Given the description of an element on the screen output the (x, y) to click on. 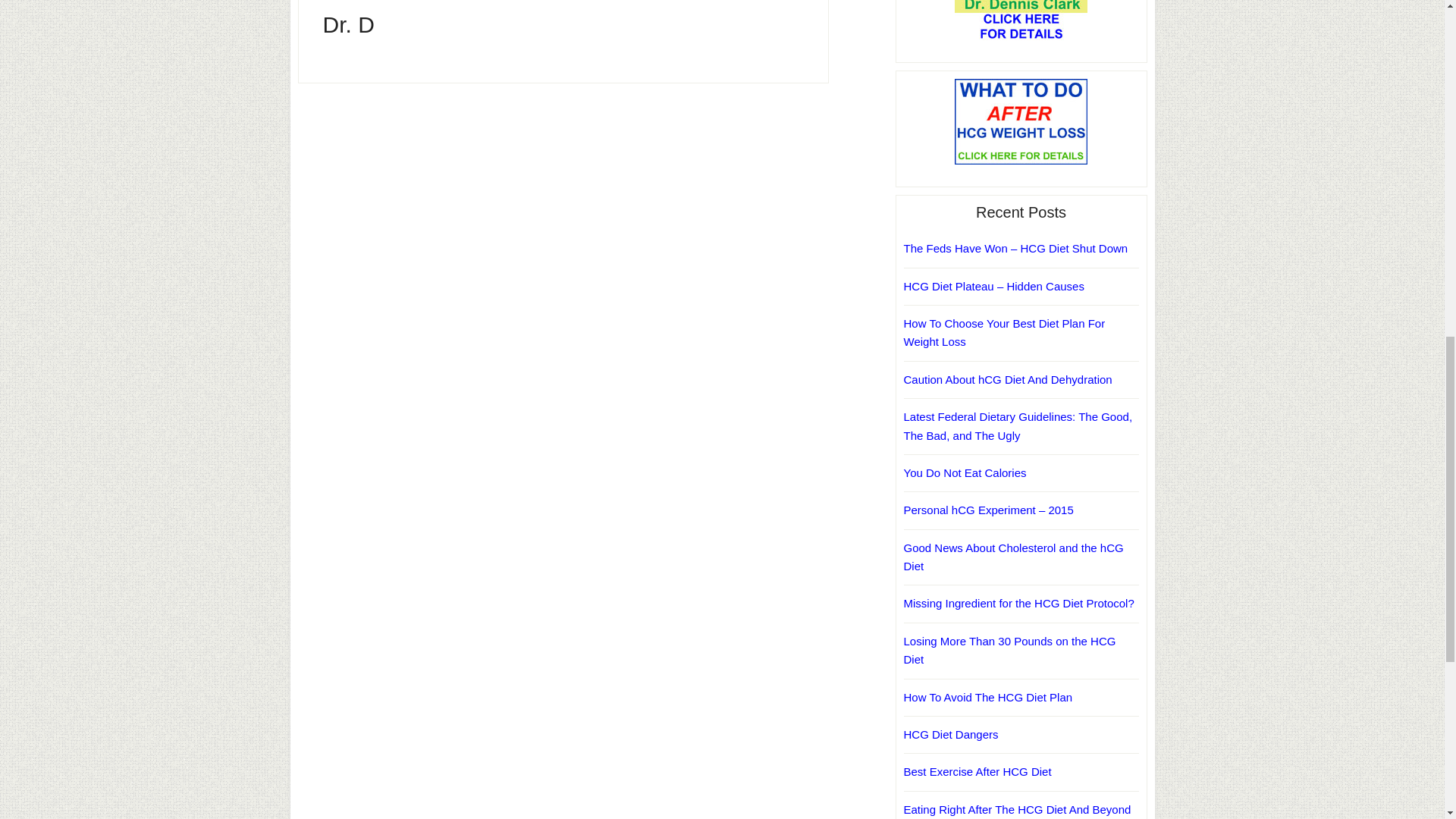
Best Exercise After HCG Diet (977, 771)
after-hcg-weight-loss-1 (1021, 121)
Caution About hCG Diet And Dehydration (1008, 379)
Good News About Cholesterol and the hCG Diet (1014, 556)
Missing Ingredient for the HCG Diet Protocol? (1019, 603)
Losing More Than 30 Pounds on the HCG Diet (1010, 649)
How To Choose Your Best Diet Plan For Weight Loss (1004, 332)
How To Avoid The HCG Diet Plan (988, 696)
HCG Diet Dangers (951, 734)
Eating Right After The HCG Diet And Beyond (1017, 809)
You Do Not Eat Calories (965, 472)
